Given the description of an element on the screen output the (x, y) to click on. 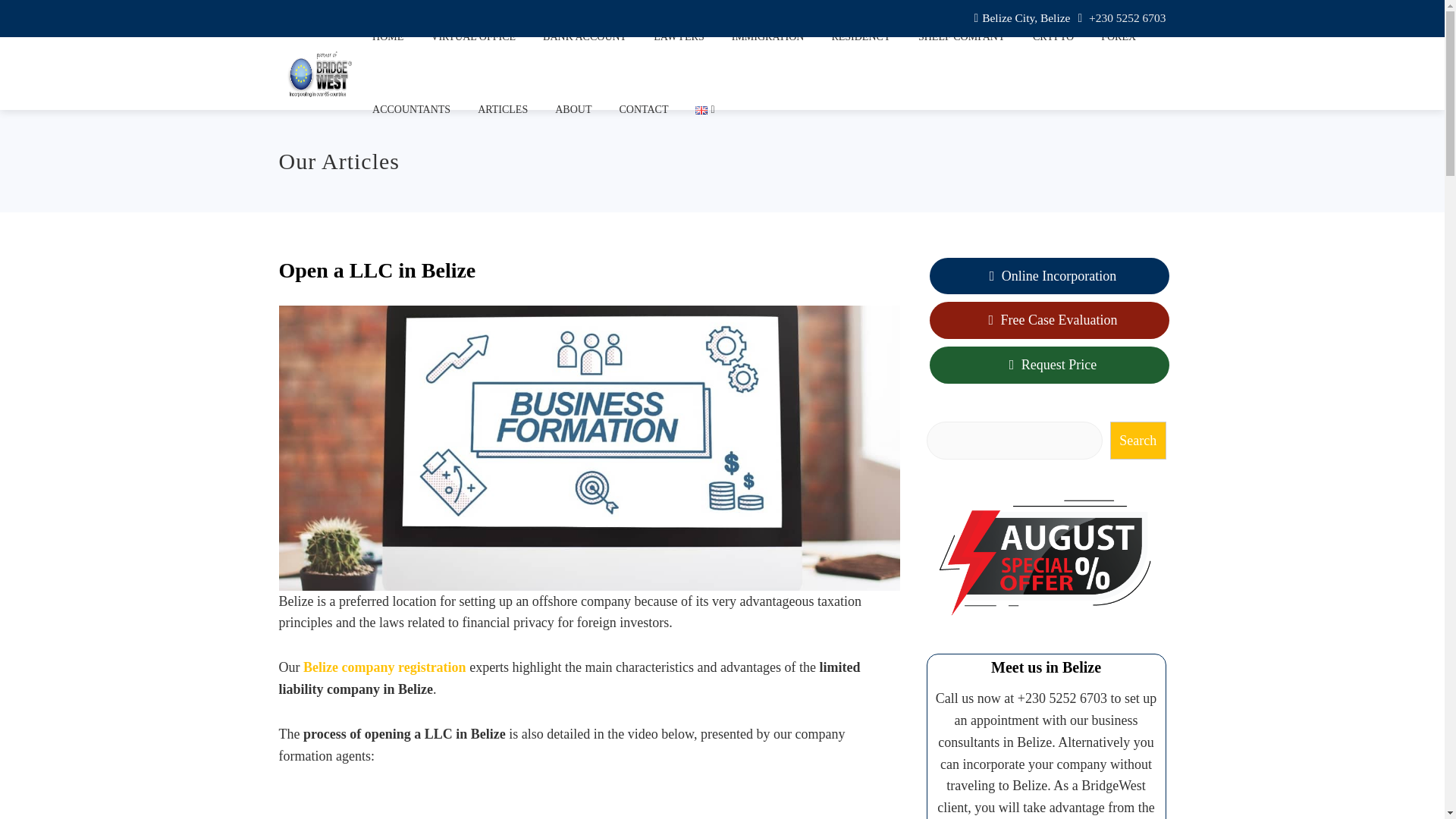
VIRTUAL OFFICE (473, 36)
LAWYERS (679, 36)
RESIDENCY (860, 36)
ARTICLES (501, 109)
Open a LLC in Belize (589, 804)
Belize company registration (383, 667)
BANK ACCOUNT (584, 36)
SHELF COMPANY (961, 36)
ACCOUNTANTS (411, 109)
IMMIGRATION (767, 36)
